Given the description of an element on the screen output the (x, y) to click on. 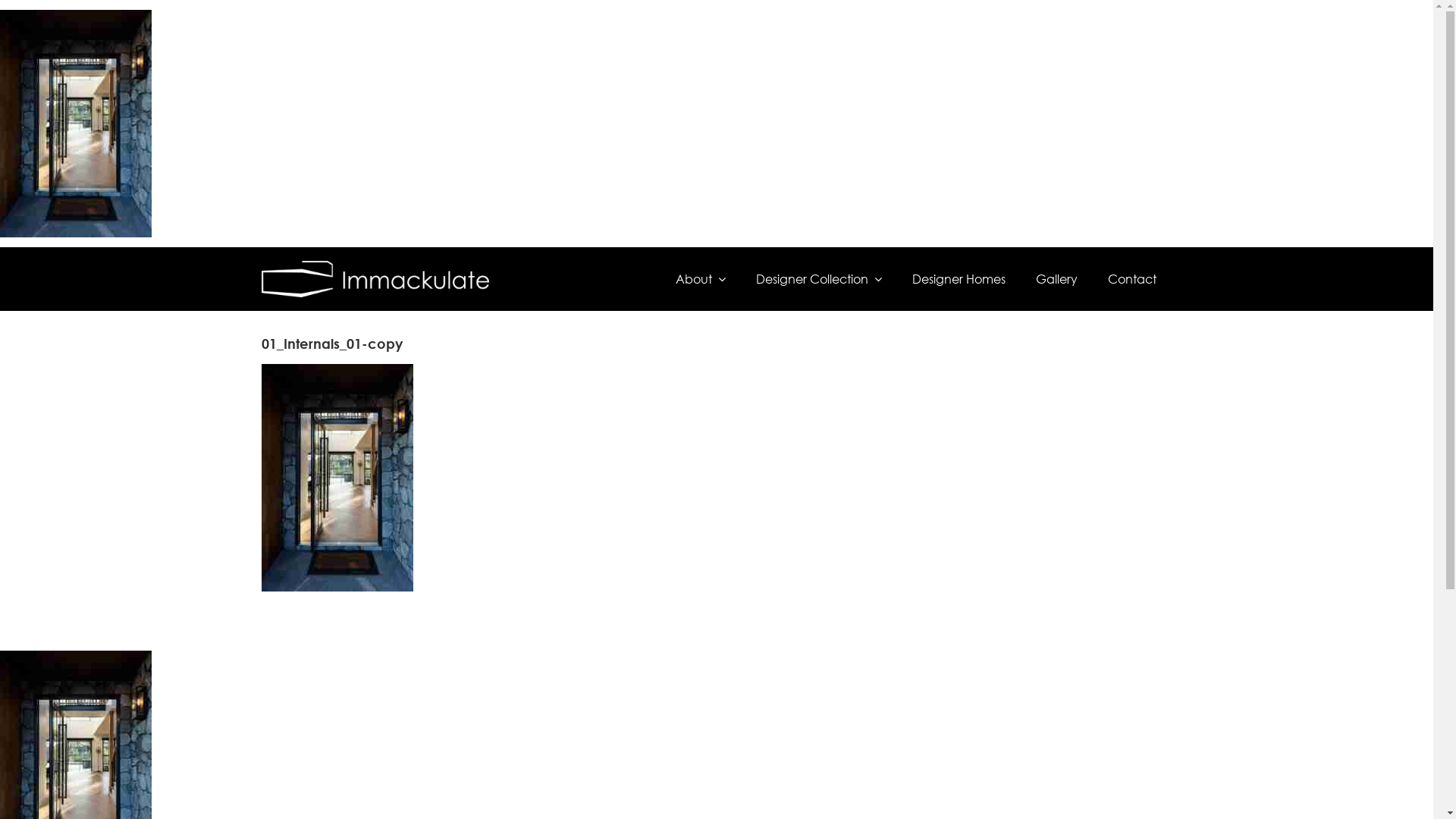
Designer Homes Element type: text (958, 278)
About Element type: text (700, 278)
Designer Collection Element type: text (818, 278)
Gallery Element type: text (1056, 278)
Contact Element type: text (1131, 278)
